Given the description of an element on the screen output the (x, y) to click on. 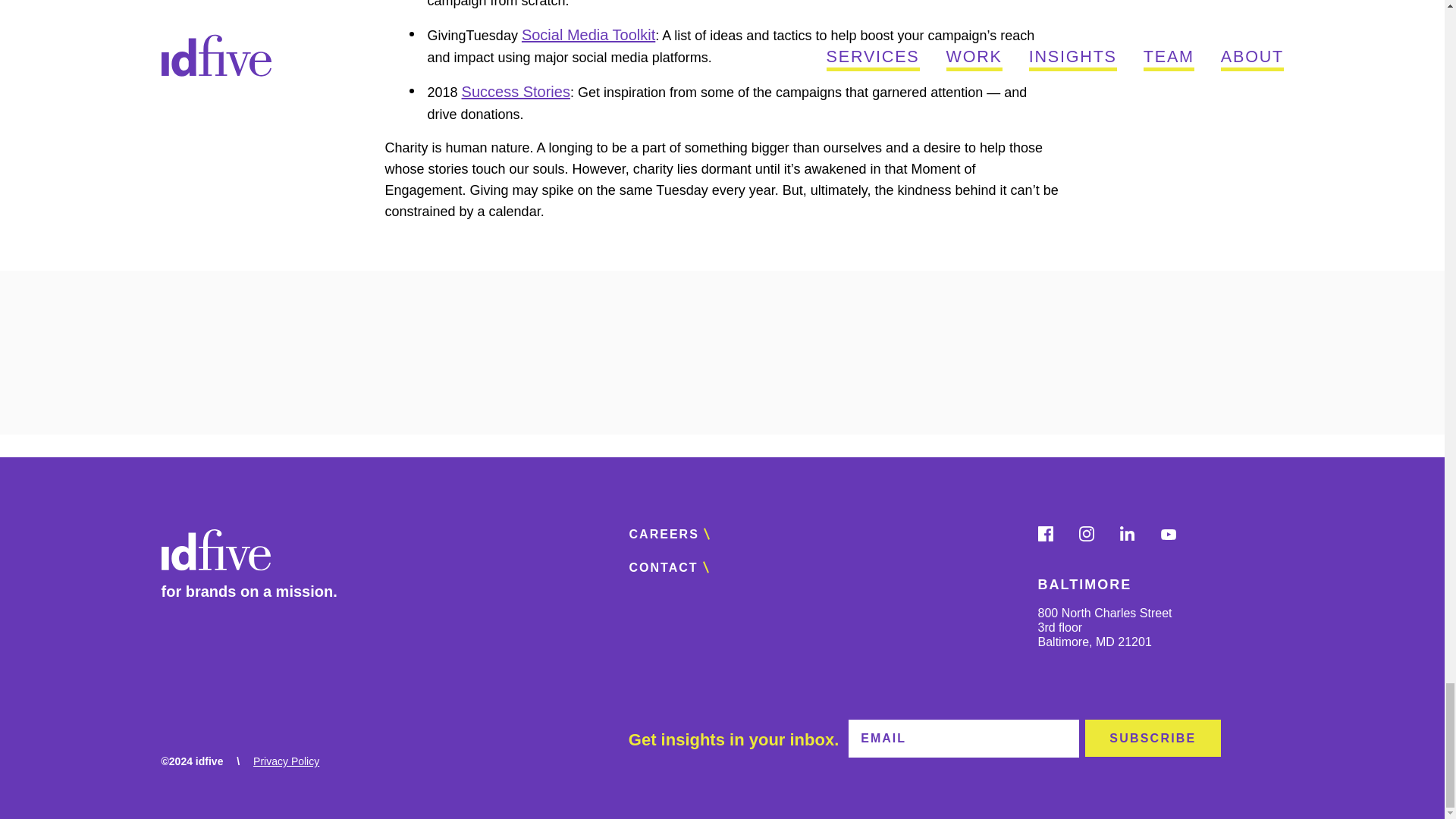
Social Media Toolkit (588, 34)
YouTube (1176, 536)
CAREERS (677, 534)
Success Stories (515, 91)
Linked In (1136, 536)
Privacy Policy (285, 761)
CONTACT (676, 567)
SUBSCRIBE (1152, 737)
Facebook (1053, 536)
Idfive Footer Logo (214, 552)
